Given the description of an element on the screen output the (x, y) to click on. 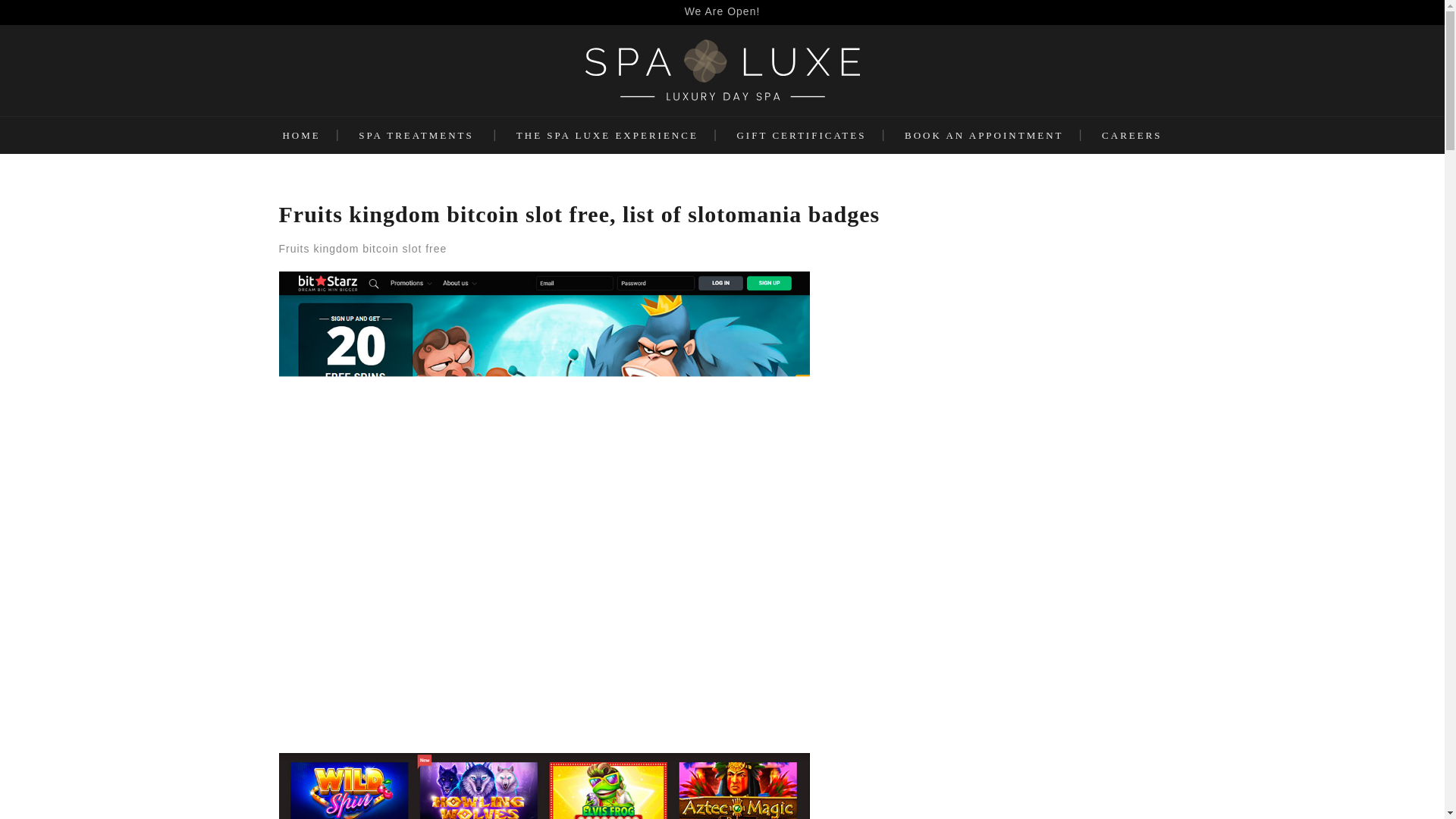
CAREERS (1131, 134)
GIFT CERTIFICATES (801, 134)
HOME (301, 134)
THE SPA LUXE EXPERIENCE (607, 134)
Fruits kingdom bitcoin slot free (544, 785)
SPA TREATMENTS (415, 134)
Fruits kingdom bitcoin slot free (362, 248)
BOOK AN APPOINTMENT (983, 134)
